Given the description of an element on the screen output the (x, y) to click on. 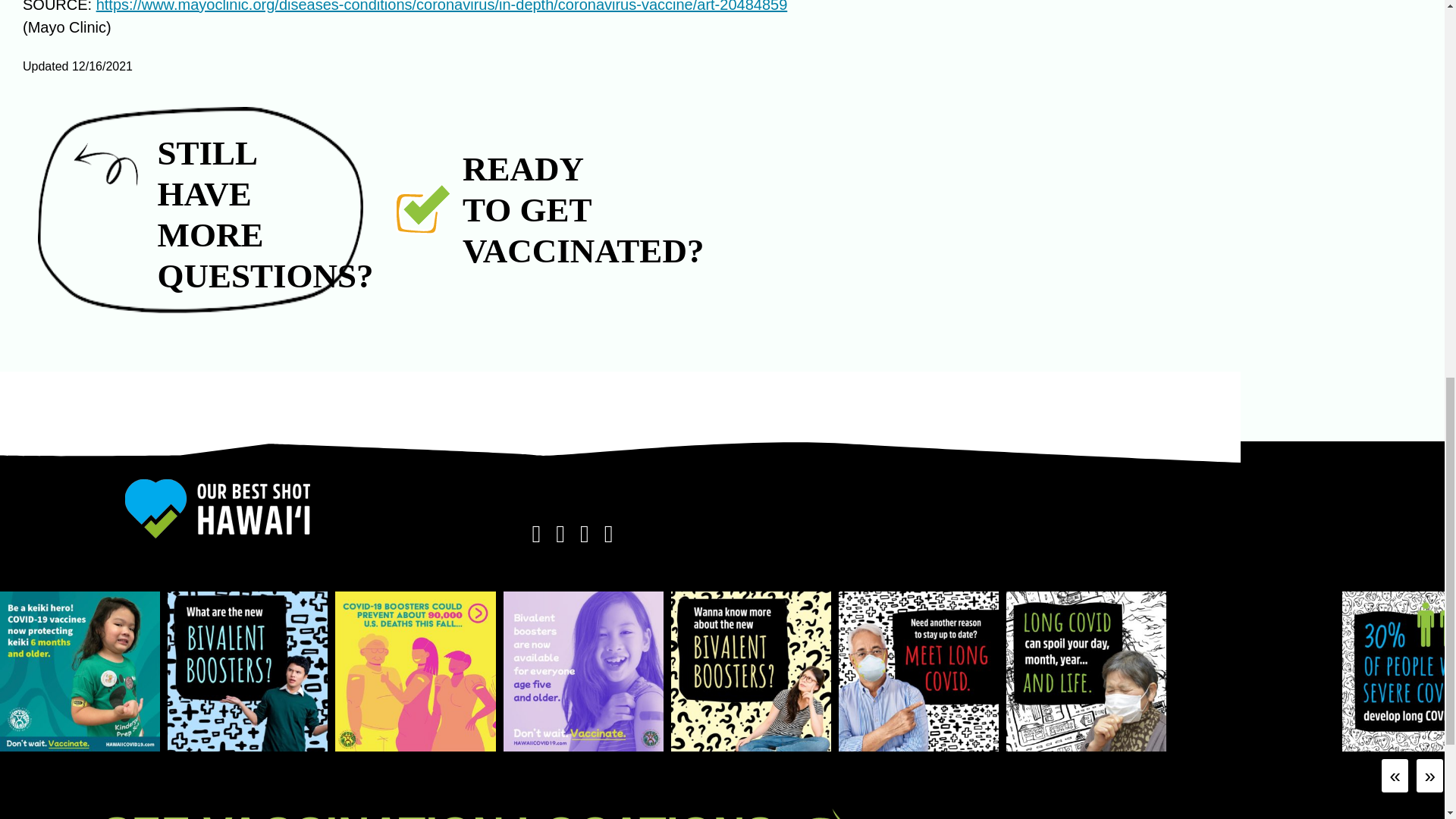
READY TO GET VACCINATED? (507, 209)
STILL HAVE MORE QUESTIONS? (200, 209)
